Given the description of an element on the screen output the (x, y) to click on. 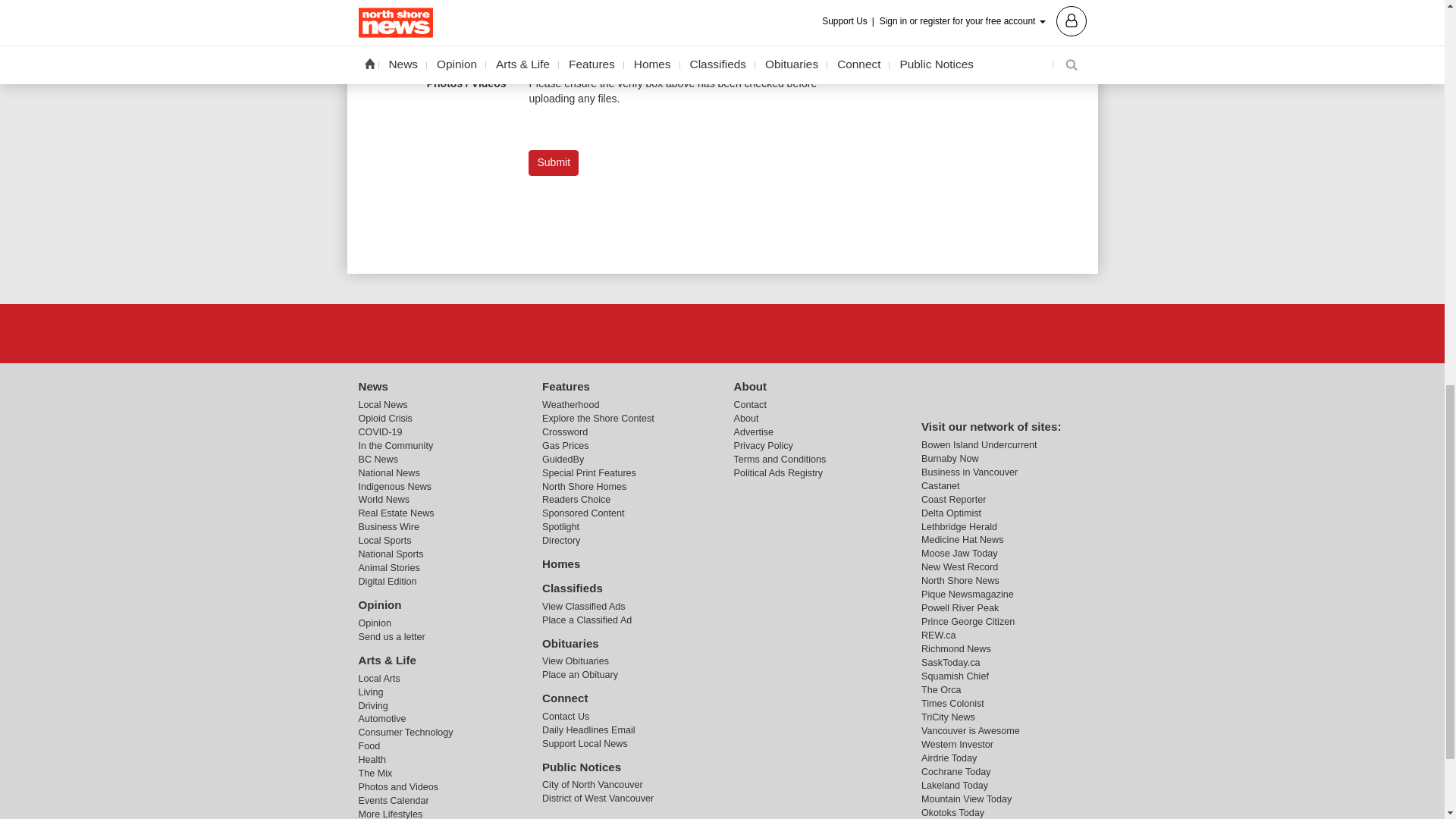
Facebook (683, 332)
Instagram (760, 332)
X (721, 332)
